Given the description of an element on the screen output the (x, y) to click on. 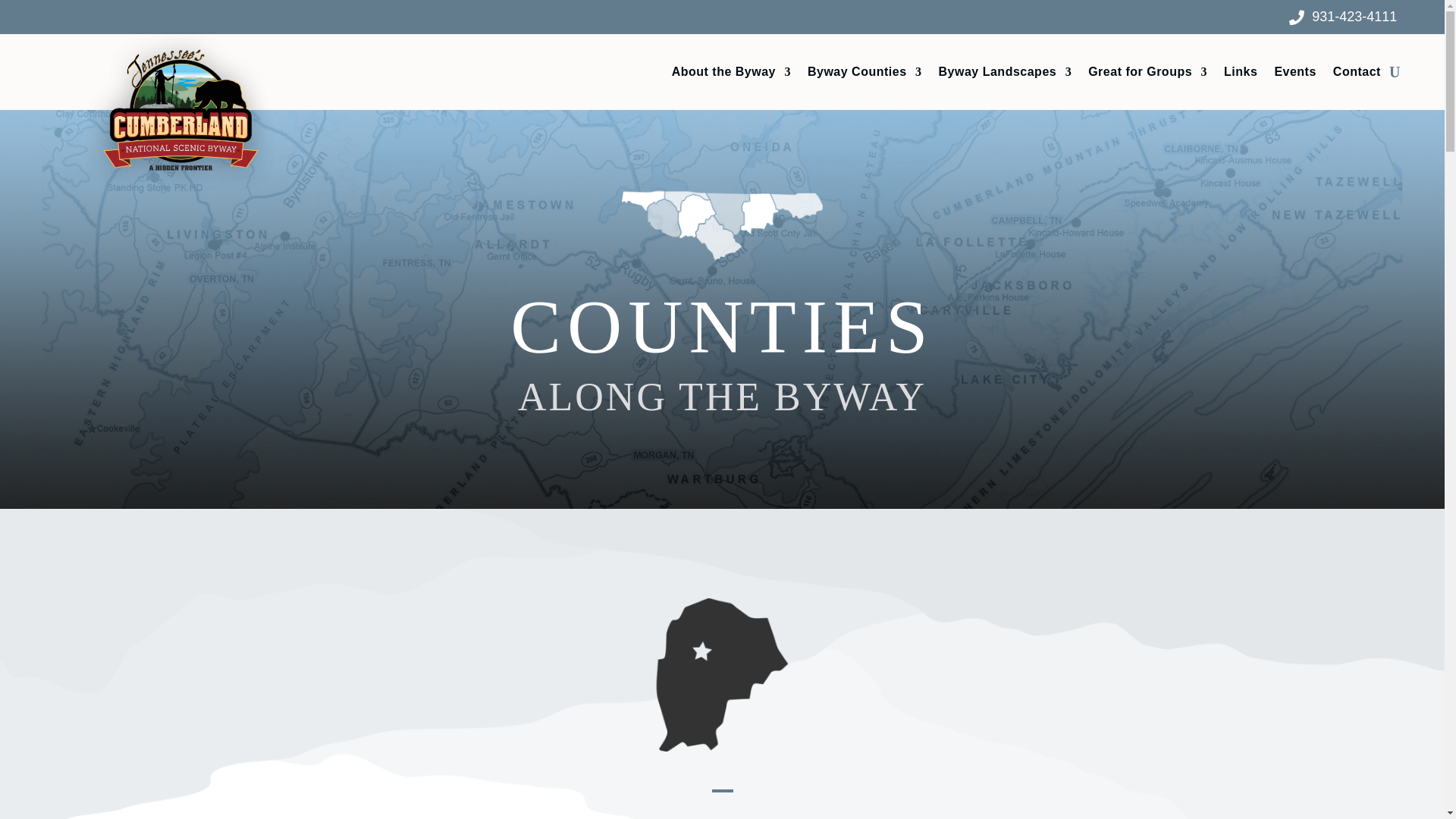
931-423-4111 (1353, 16)
About the Byway (730, 75)
menu-county-overton (722, 674)
Great for Groups (1147, 75)
Contact (1356, 75)
logo-cumberland-byway-large (179, 111)
Byway Landscapes (1005, 75)
menu-icon-home-counties (721, 225)
Links (1240, 75)
Events (1295, 75)
